Given the description of an element on the screen output the (x, y) to click on. 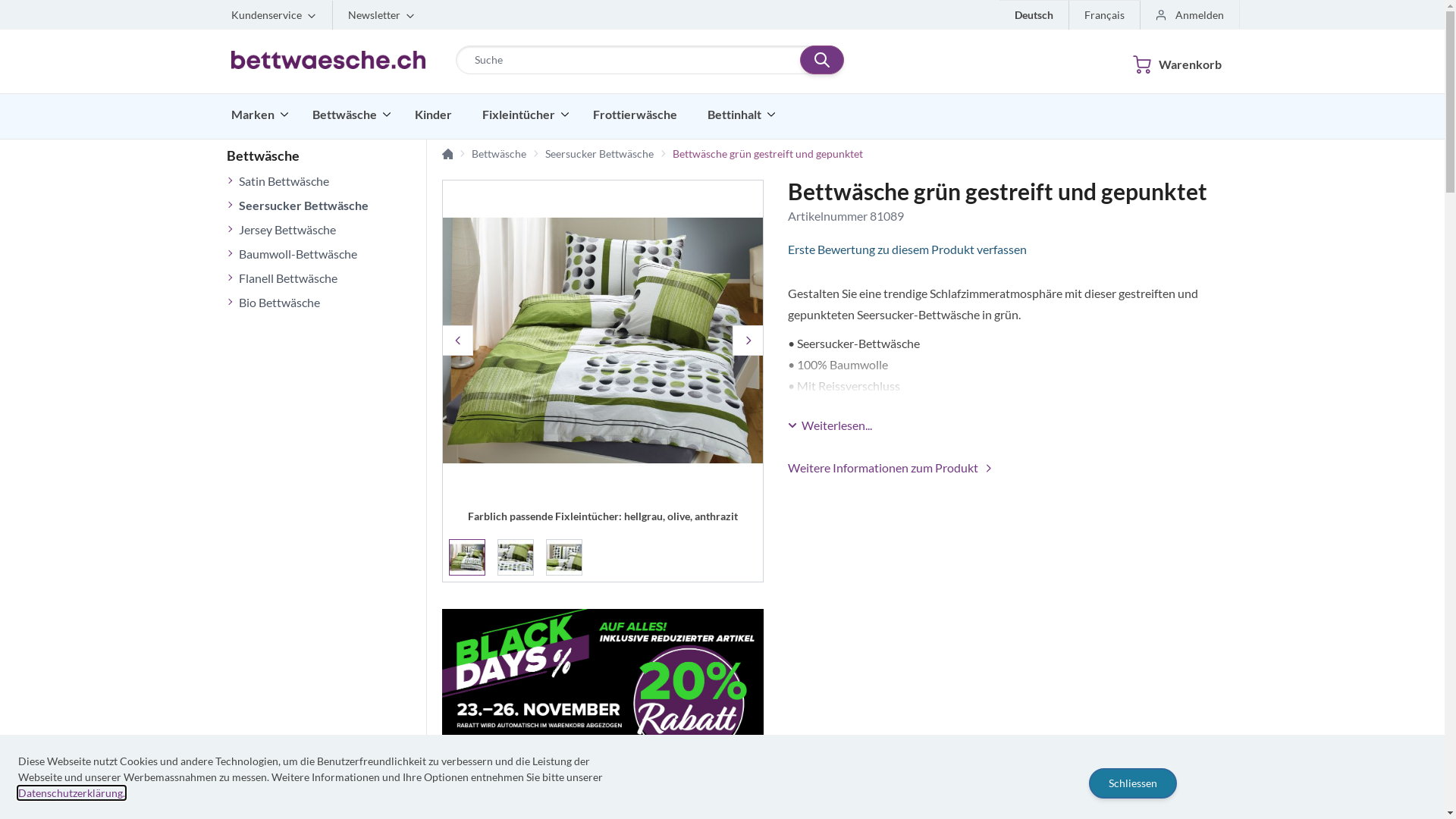
Bettinhalt Element type: text (741, 114)
- Element type: text (975, 792)
Kinder Element type: text (436, 114)
+ Element type: text (1051, 792)
Marken Element type: text (259, 114)
Kundenservice Element type: text (274, 14)
Schliessen Element type: text (1132, 782)
Anmelden Element type: text (1189, 14)
Weitere Informationen zum Produkt Element type: text (890, 467)
In den Warenkorb Element type: text (1107, 789)
Abonnieren Element type: text (564, 182)
Weiterlesen... Element type: text (829, 425)
Suchen Element type: hover (822, 59)
Anzahl Element type: hover (1013, 792)
Newsletter Element type: text (381, 14)
Erste Bewertung zu diesem Produkt verfassen Element type: text (1000, 249)
Warenkorb Element type: text (1169, 61)
Zur Homepage Element type: hover (447, 153)
